Given the description of an element on the screen output the (x, y) to click on. 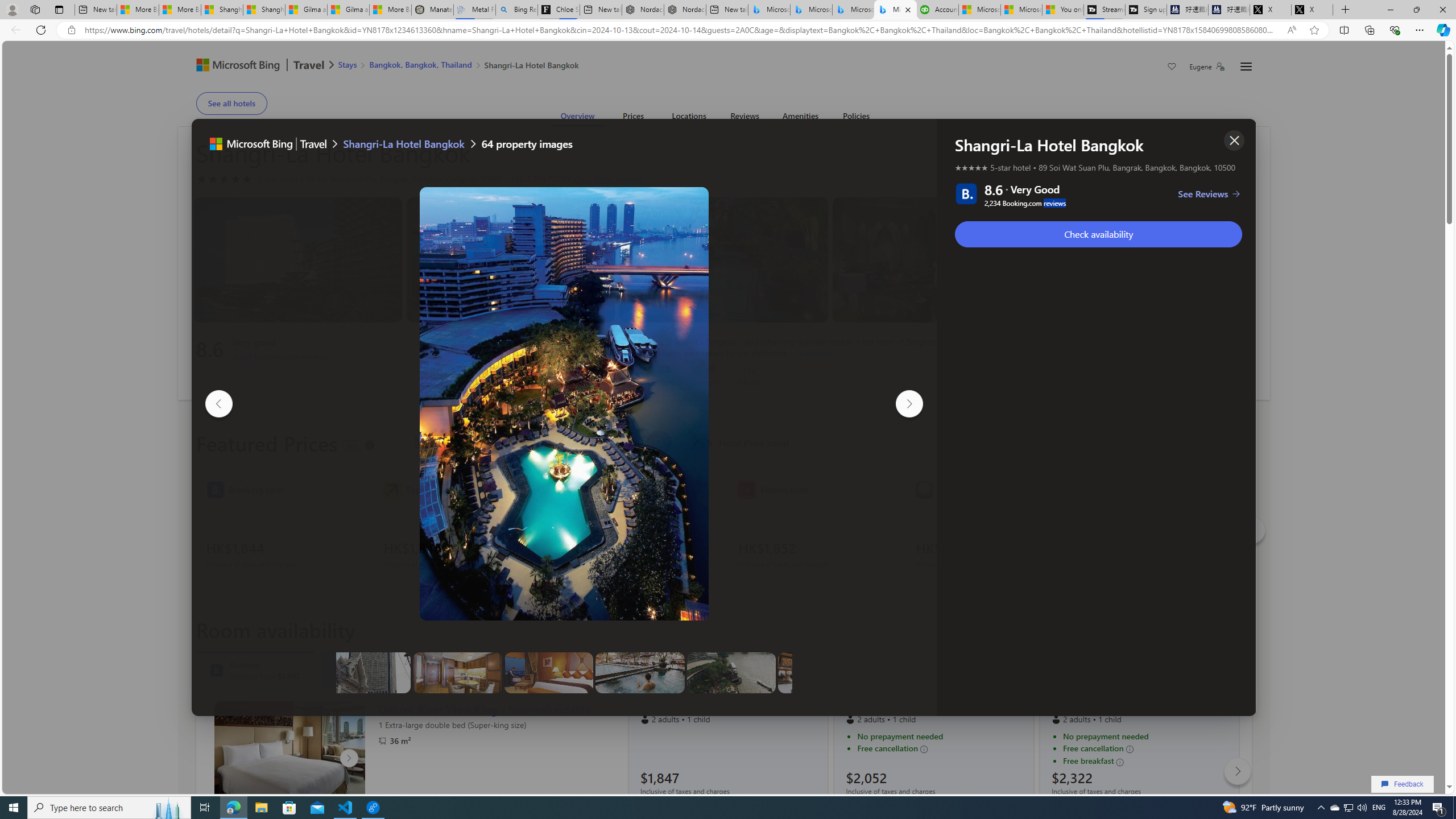
Bing Real Estate - Home sales and rental listings (516, 9)
